Given the description of an element on the screen output the (x, y) to click on. 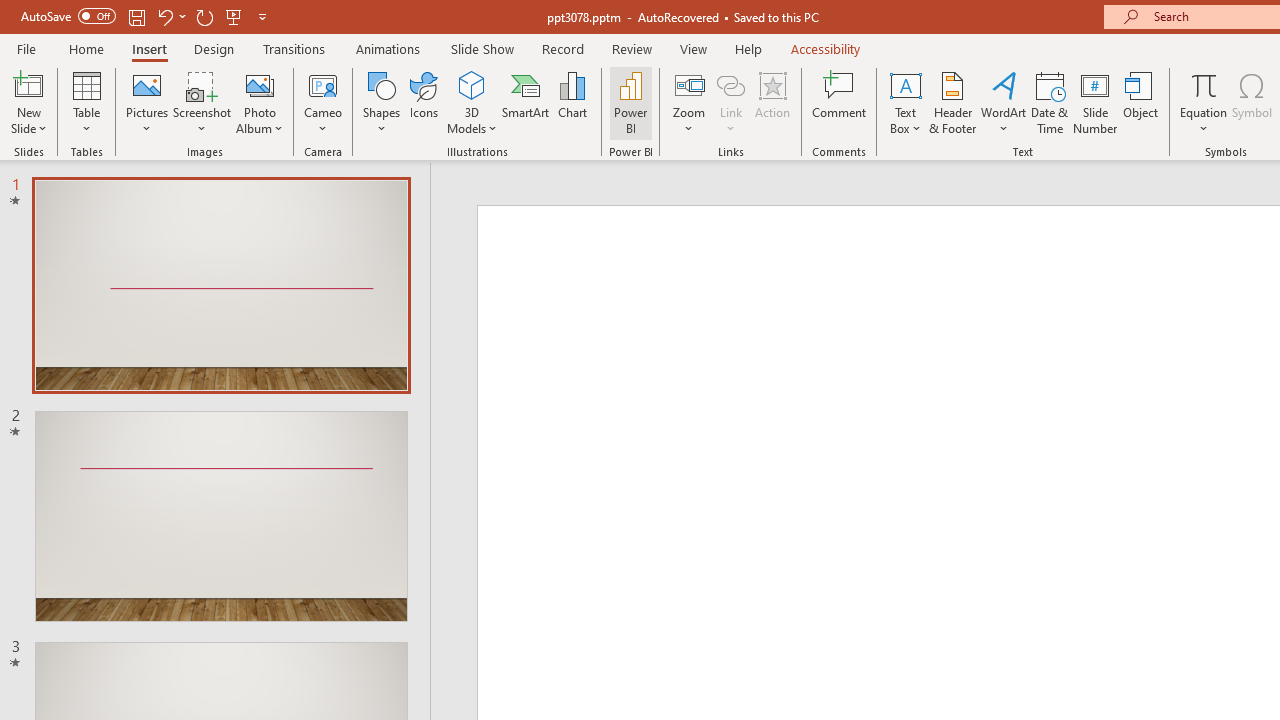
Photo Album... (259, 102)
New Photo Album... (259, 84)
Screenshot (202, 102)
Header & Footer... (952, 102)
Date & Time... (1050, 102)
Object... (1141, 102)
Text Box (905, 102)
Comment (839, 102)
3D Models (472, 102)
Accessibility (825, 48)
Slide (221, 515)
